Given the description of an element on the screen output the (x, y) to click on. 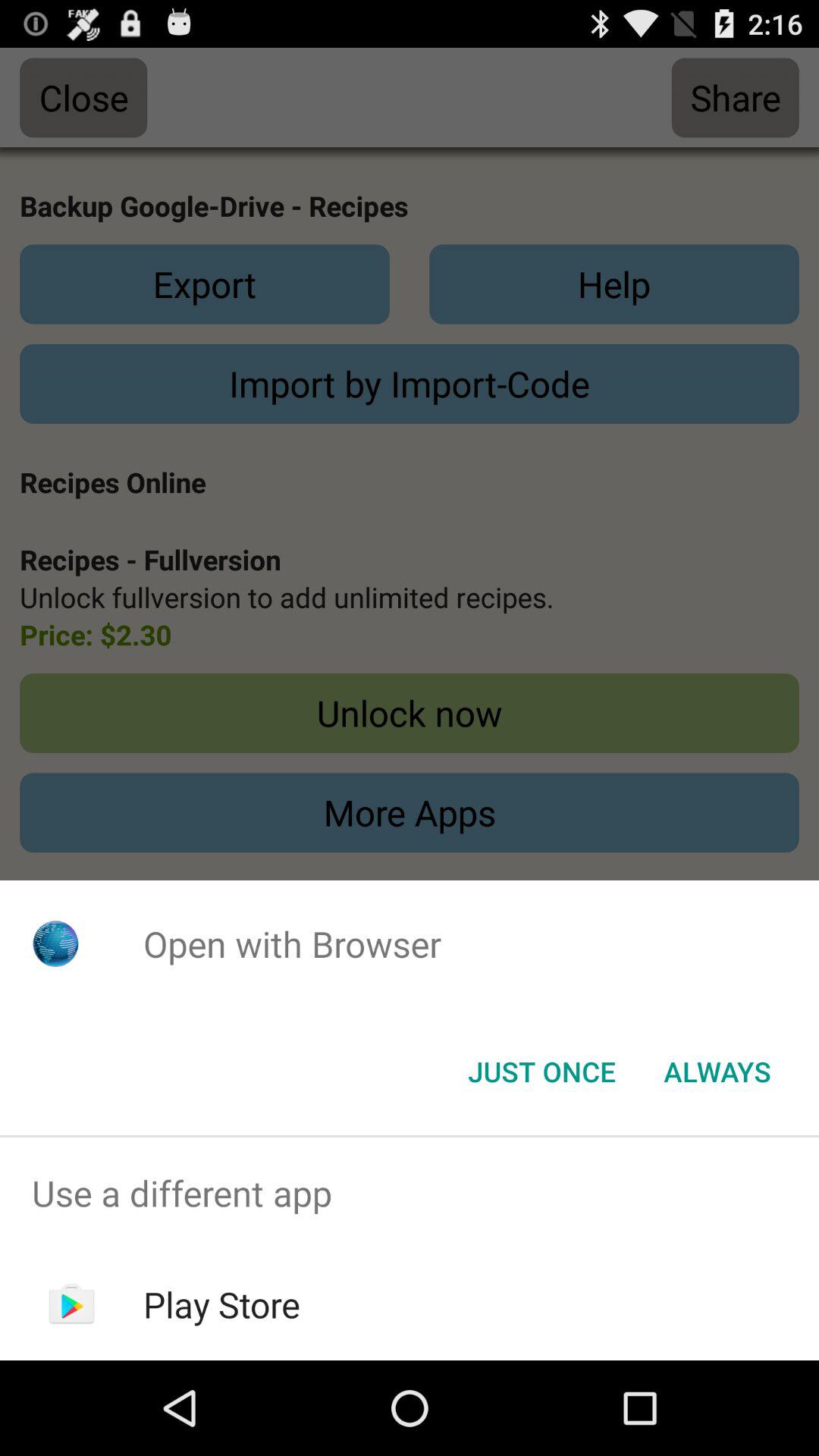
scroll to the play store app (221, 1304)
